Given the description of an element on the screen output the (x, y) to click on. 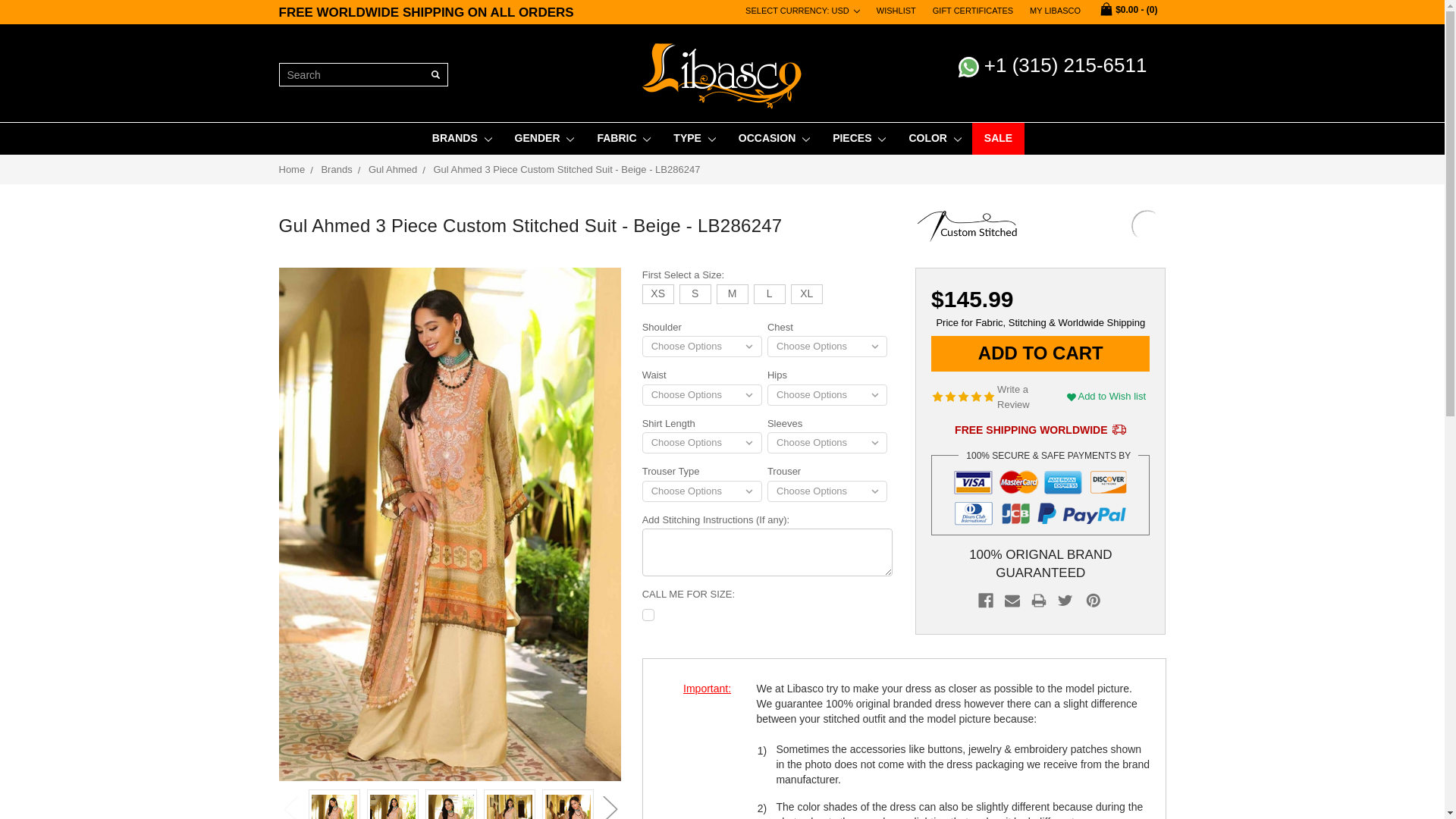
Add to Cart (1040, 353)
GIFT CERTIFICATES (973, 11)
BRANDS (461, 137)
WISHLIST (895, 11)
LIBASCO (722, 75)
SELECT CURRENCY: USD (801, 11)
MY LIBASCO (1055, 11)
